Given the description of an element on the screen output the (x, y) to click on. 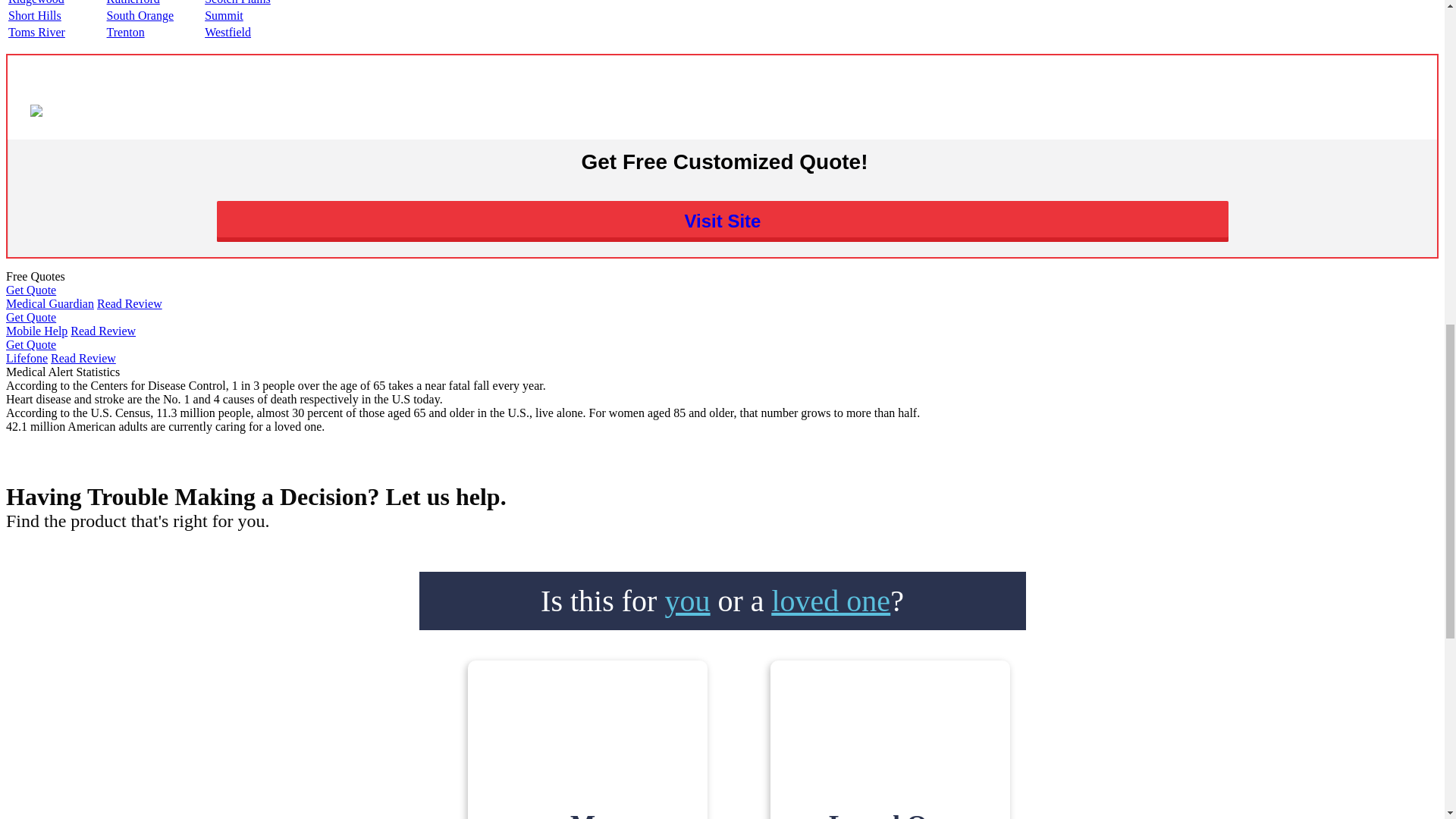
South Orange (139, 15)
Short Hills (34, 15)
Westfield (227, 31)
Trenton (125, 31)
Ridgewood (36, 2)
Summit (224, 15)
Scotch Plains (237, 2)
Toms River (36, 31)
Rutherford (133, 2)
